Given the description of an element on the screen output the (x, y) to click on. 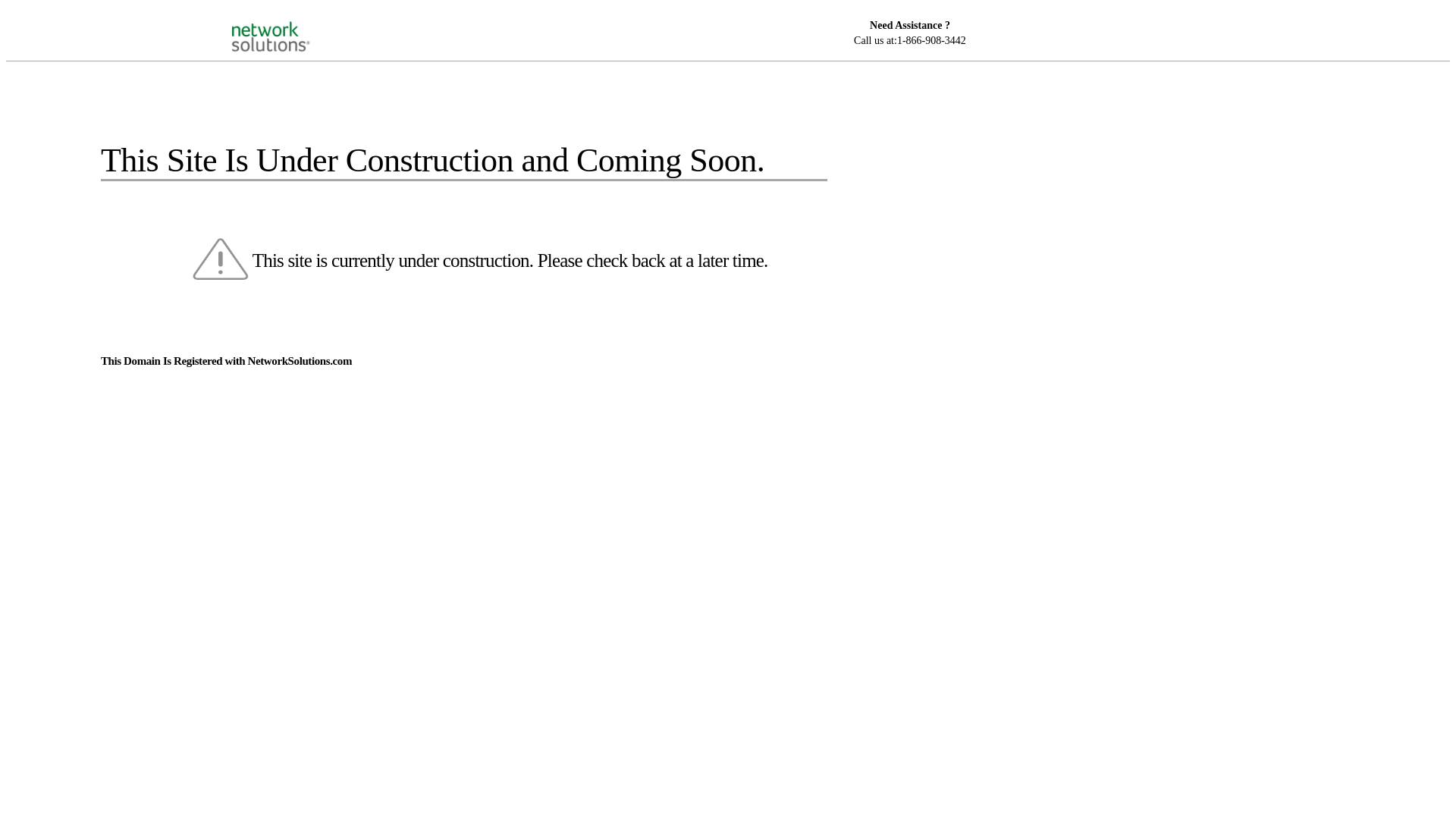
NetworkSolutions.com Home Element type: hover (289, 23)
